Given the description of an element on the screen output the (x, y) to click on. 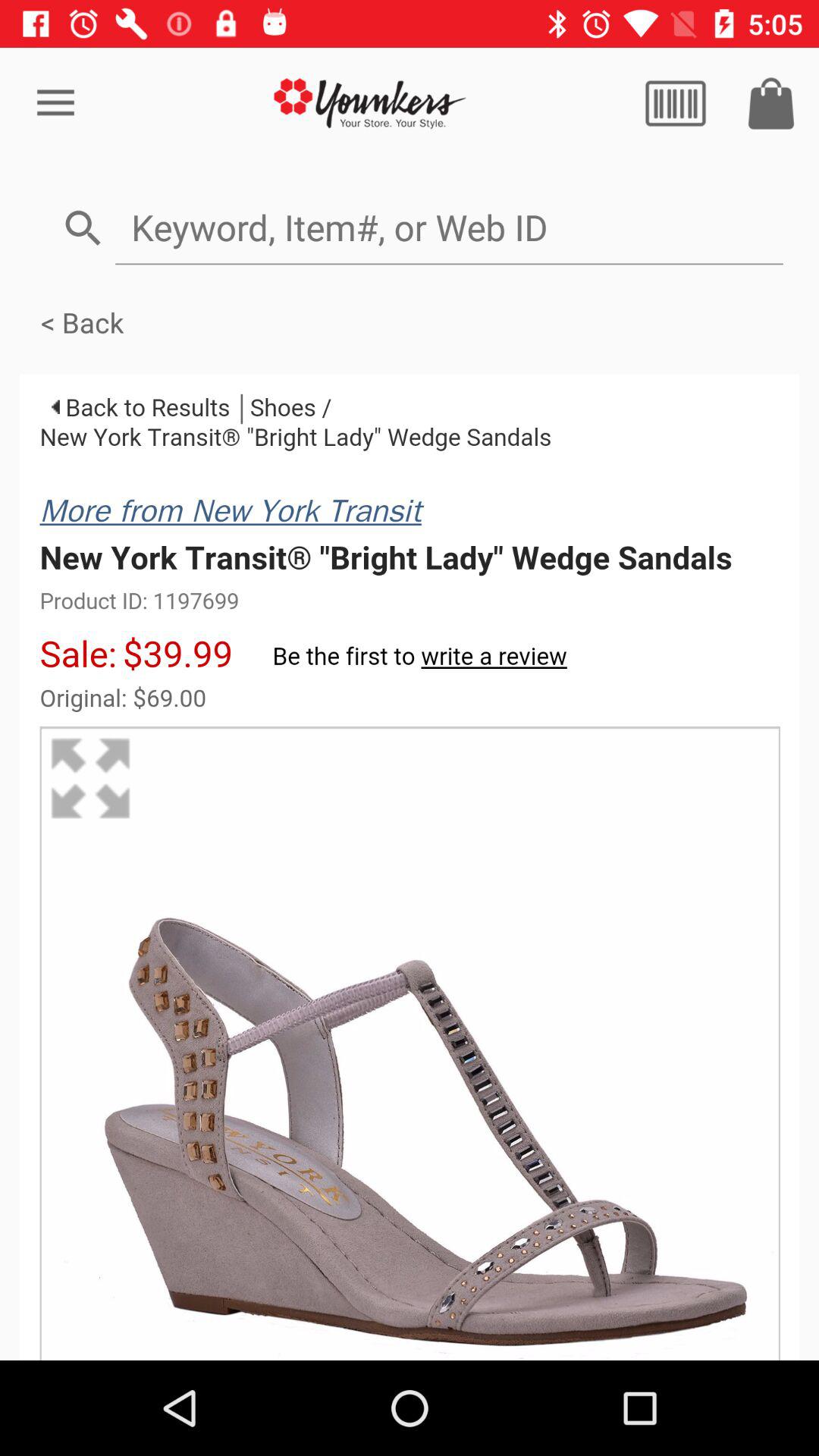
vision-impaired user understand its functionality and purpose (675, 103)
